Given the description of an element on the screen output the (x, y) to click on. 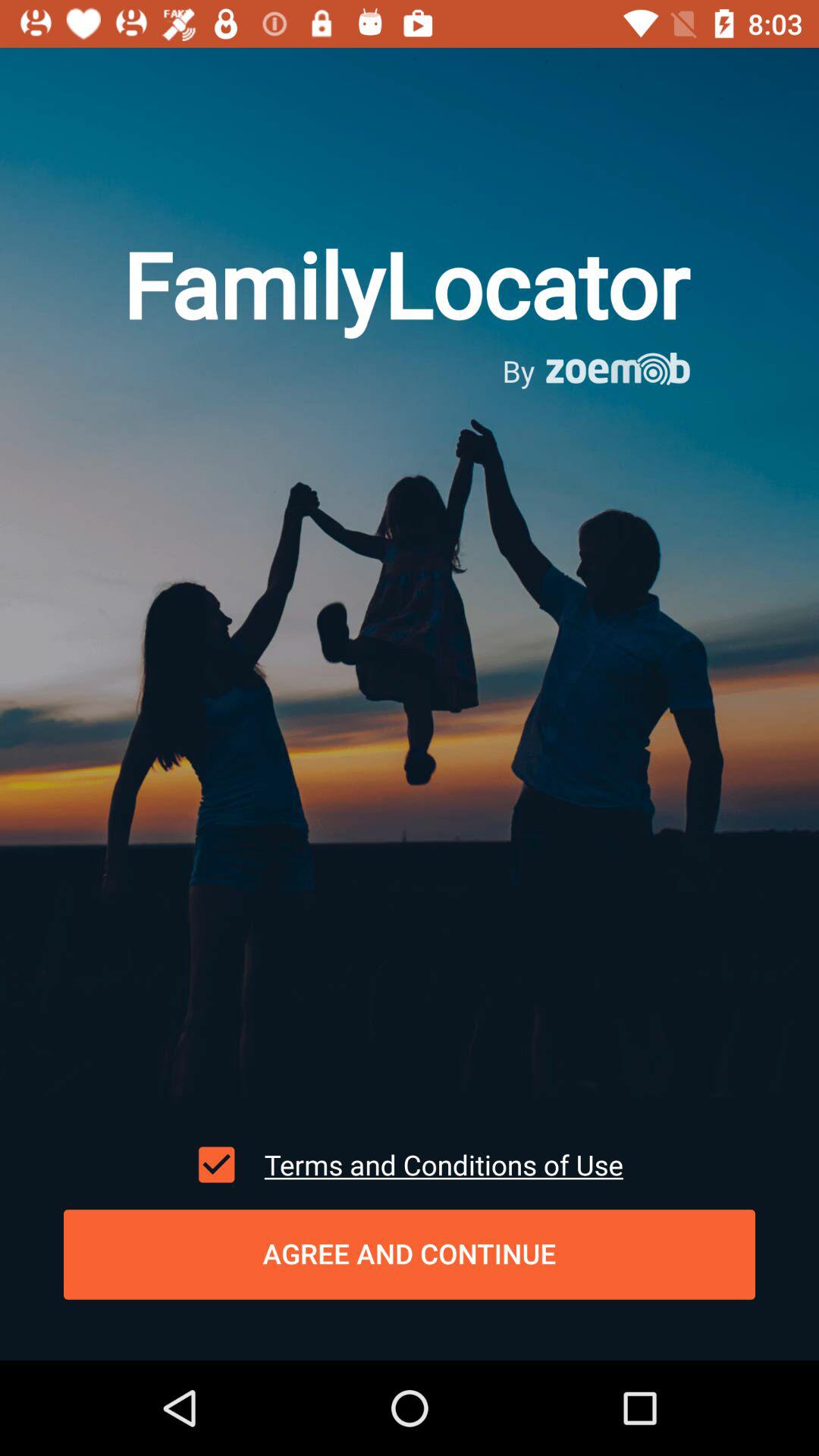
tap the item above agree and continue icon (216, 1164)
